Given the description of an element on the screen output the (x, y) to click on. 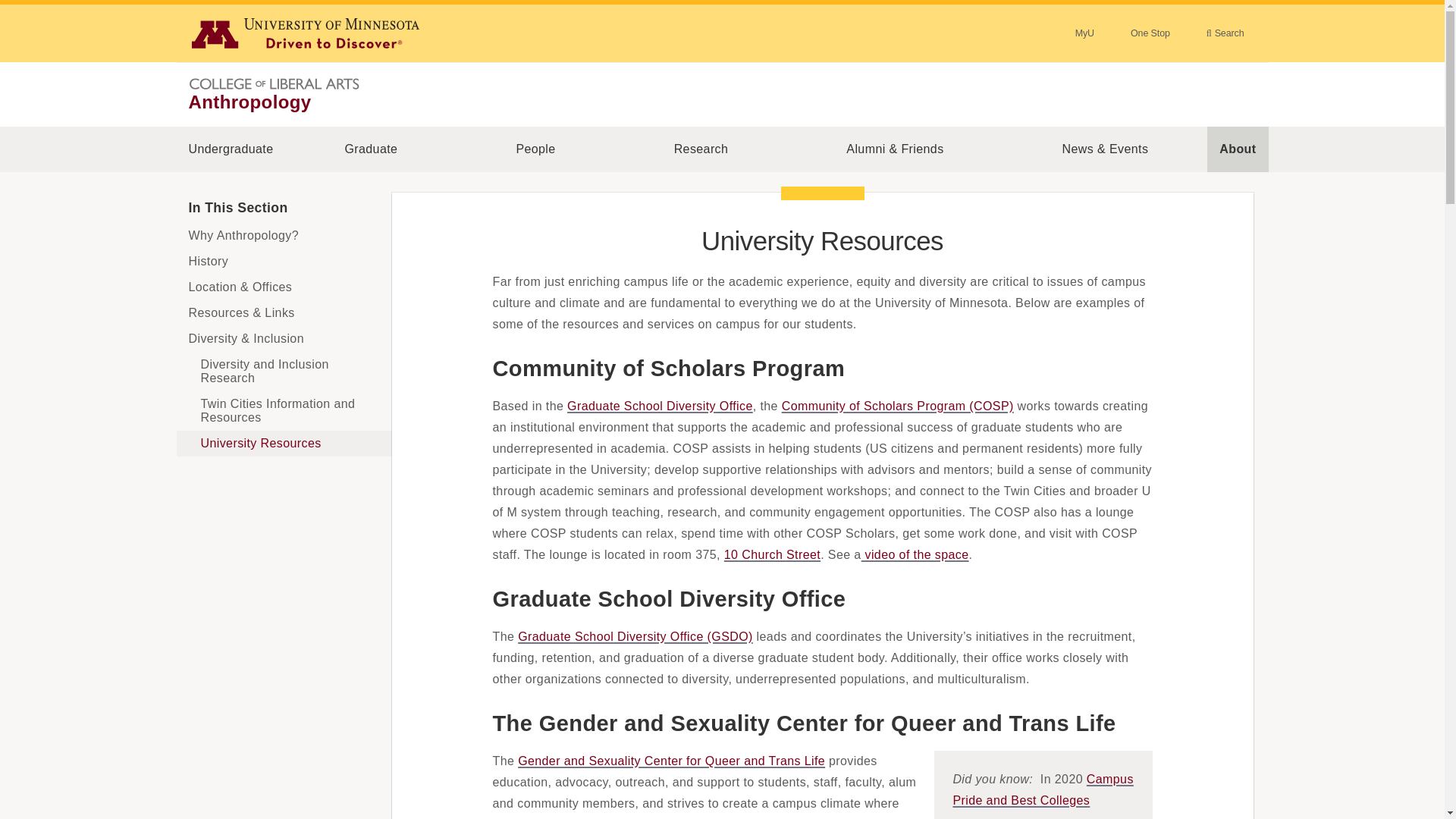
Search (1224, 32)
Twin Cities Information and Resources (283, 410)
10 Church Street (772, 554)
Undergraduate (230, 148)
Diversity and Inclusion Research (283, 371)
Research (700, 148)
 video of the space (915, 554)
One Stop (1150, 32)
Graduate (371, 148)
Campus Pride and Best Colleges (1042, 789)
